Given the description of an element on the screen output the (x, y) to click on. 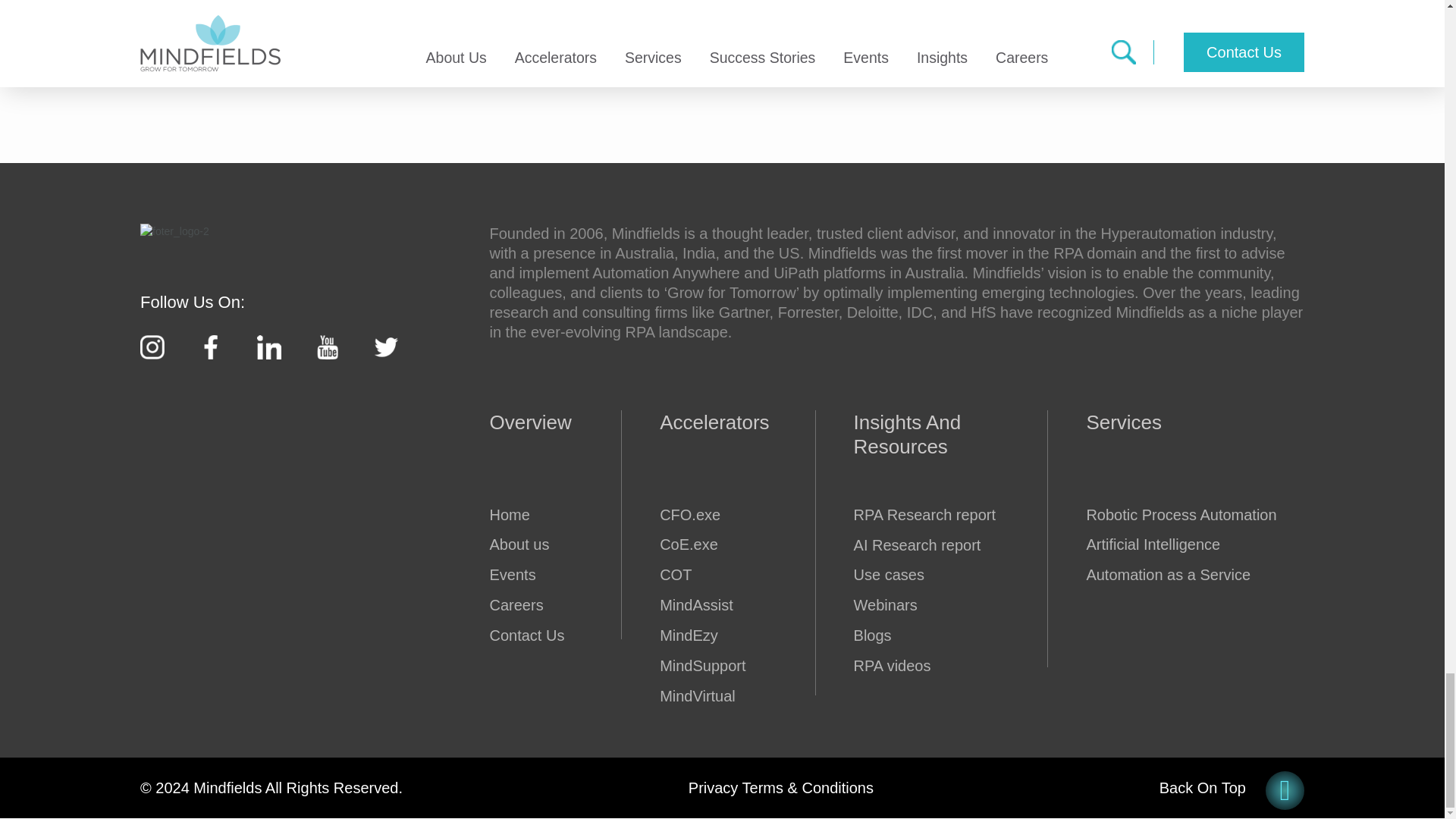
About Mindfields (526, 544)
Contact Us (526, 635)
Hyperautomation (526, 515)
Career (526, 605)
Mindfields Events (526, 575)
